Given the description of an element on the screen output the (x, y) to click on. 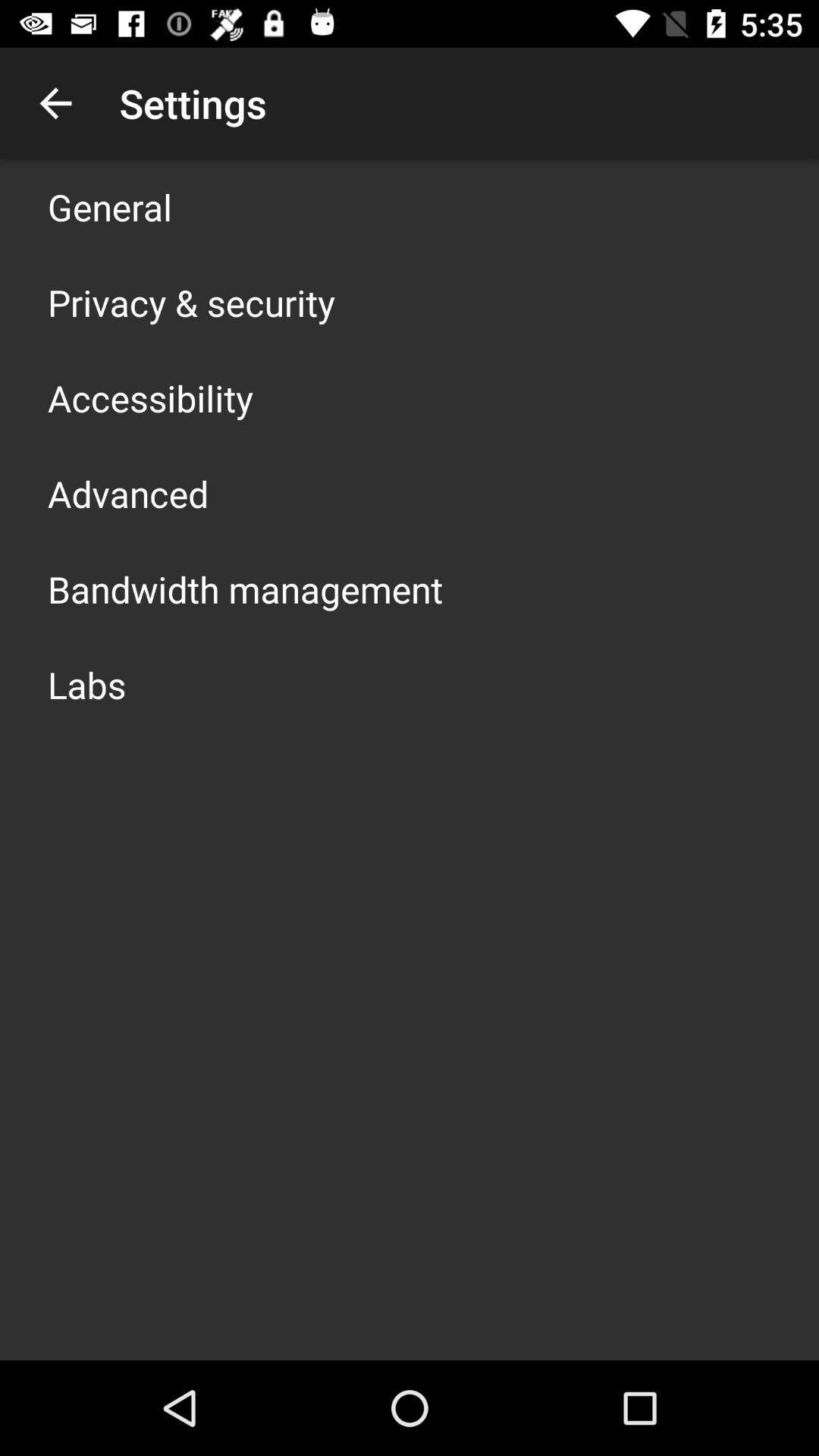
select the app next to the settings app (55, 103)
